Given the description of an element on the screen output the (x, y) to click on. 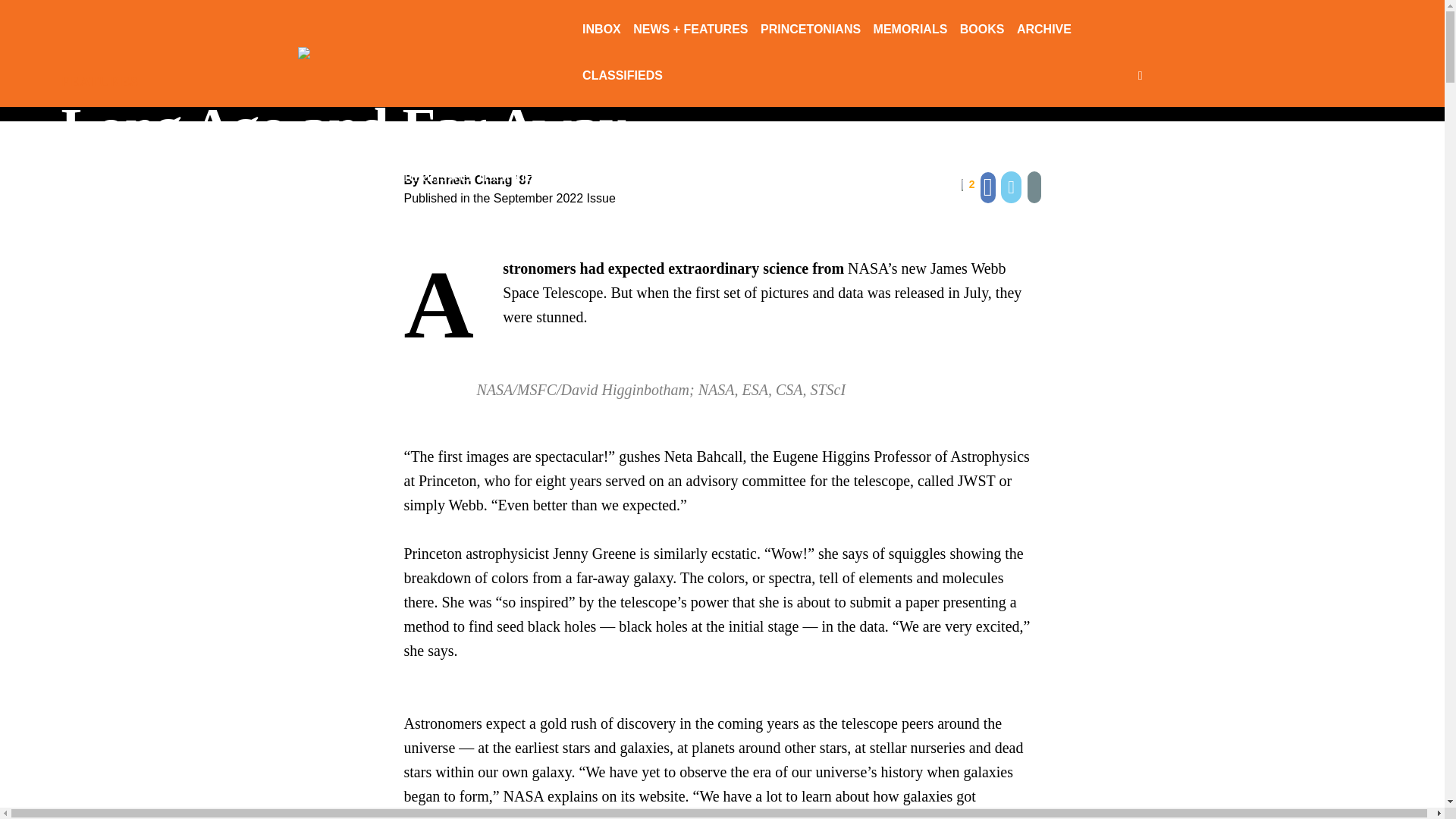
CLASSIFIEDS (622, 76)
Published in the September 2022 Issue (508, 197)
PRINCETONIANS (809, 30)
ARCHIVE (1043, 30)
MEMORIALS (910, 30)
BOOKS (982, 30)
INBOX (602, 30)
